Given the description of an element on the screen output the (x, y) to click on. 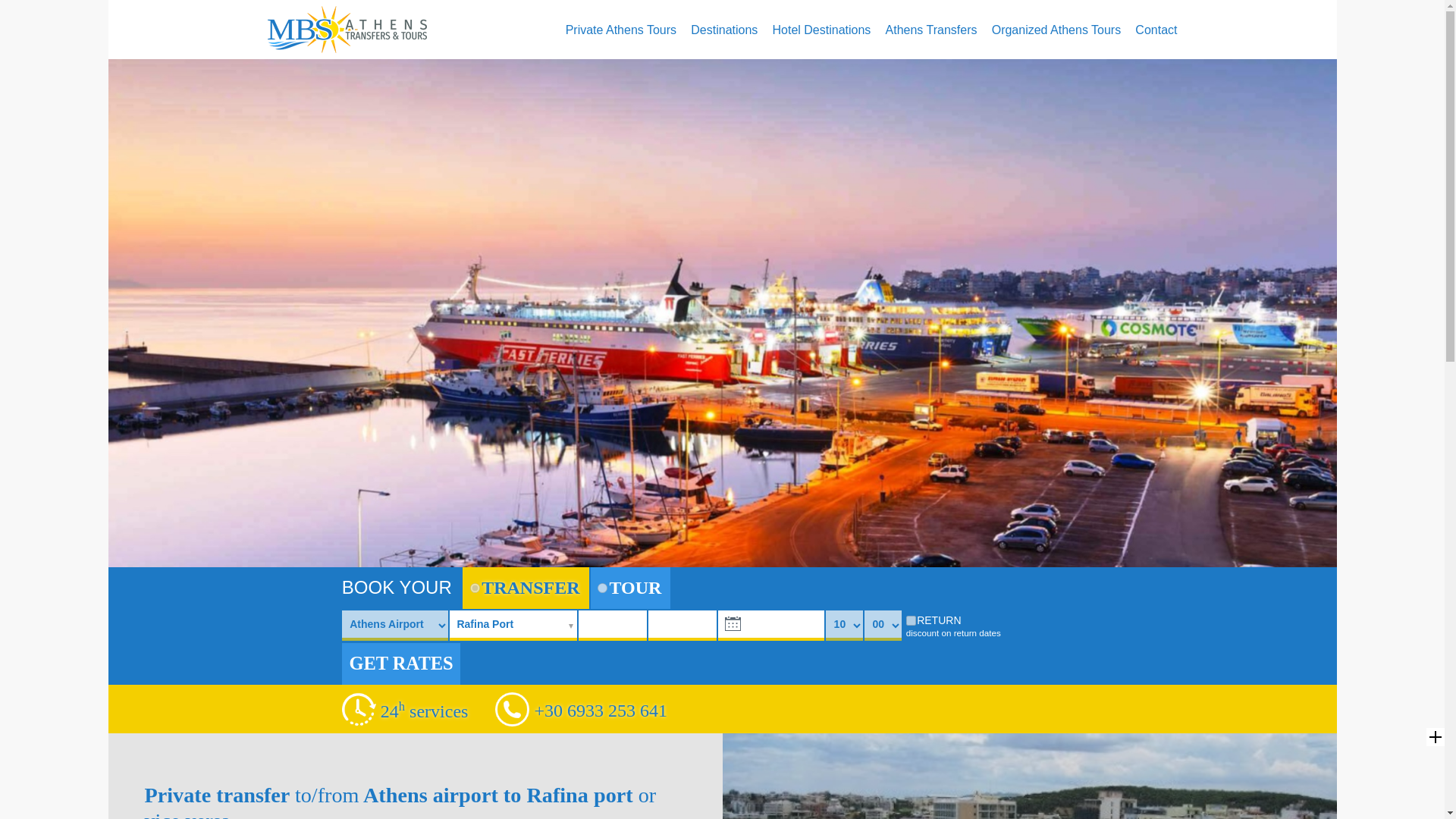
Organized Athens Tours (1056, 29)
Hotel Destinations (821, 29)
PERSONS (612, 624)
Contact (1155, 29)
on (910, 620)
Athens Transfers (930, 29)
GET RATES (401, 663)
LUGGAGE (681, 624)
DEPARTURE (770, 624)
2 (601, 587)
1 (475, 587)
Destinations (723, 29)
Private Athens Tours (621, 29)
